Given the description of an element on the screen output the (x, y) to click on. 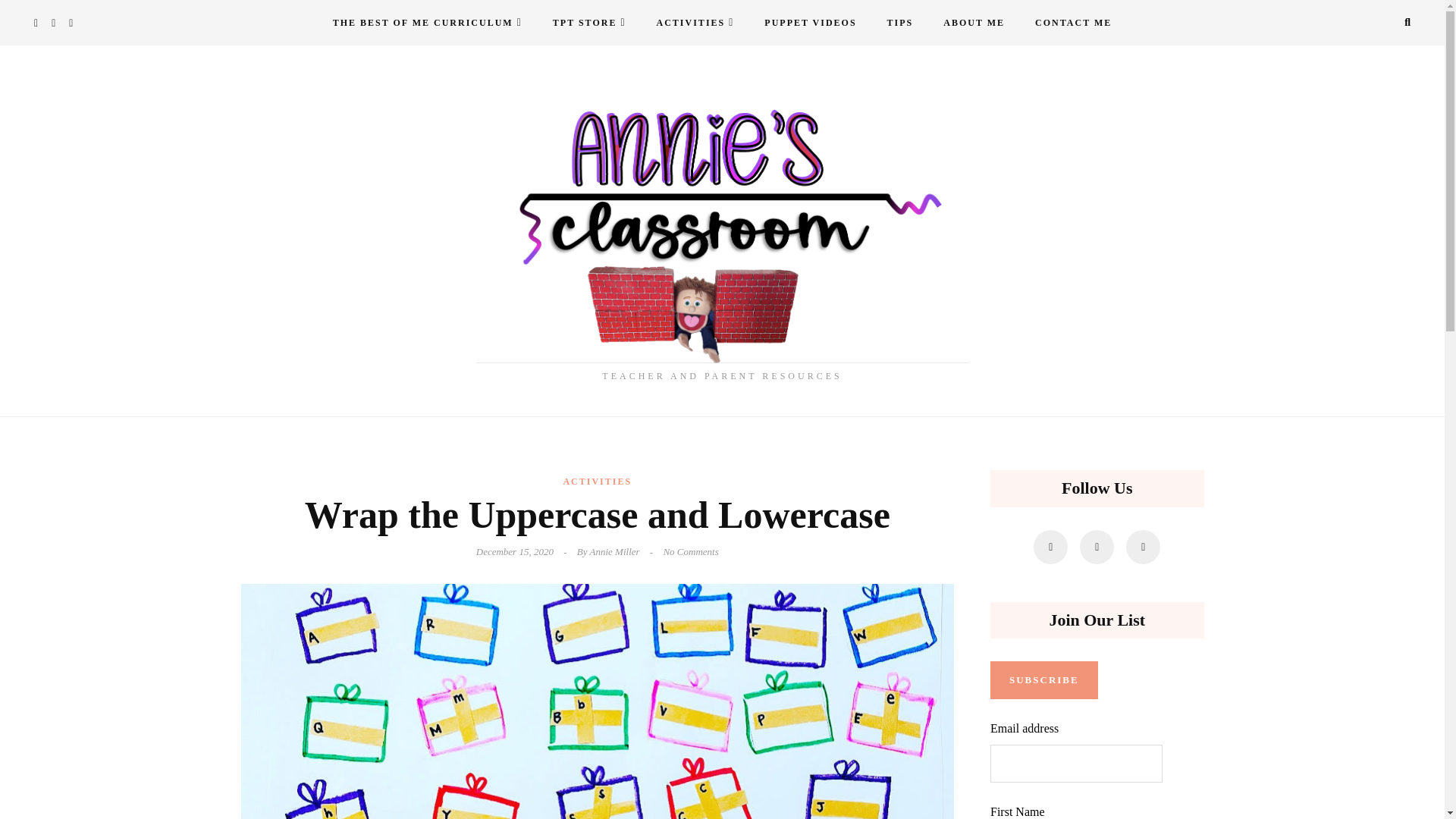
CONTACT ME (1073, 22)
ABOUT ME (973, 22)
PUPPET VIDEOS (810, 22)
ACTIVITIES (596, 480)
ACTIVITIES (695, 22)
Subscribe (1043, 679)
THE BEST OF ME CURRICULUM (426, 22)
TIPS (900, 22)
TPT STORE (589, 22)
